Given the description of an element on the screen output the (x, y) to click on. 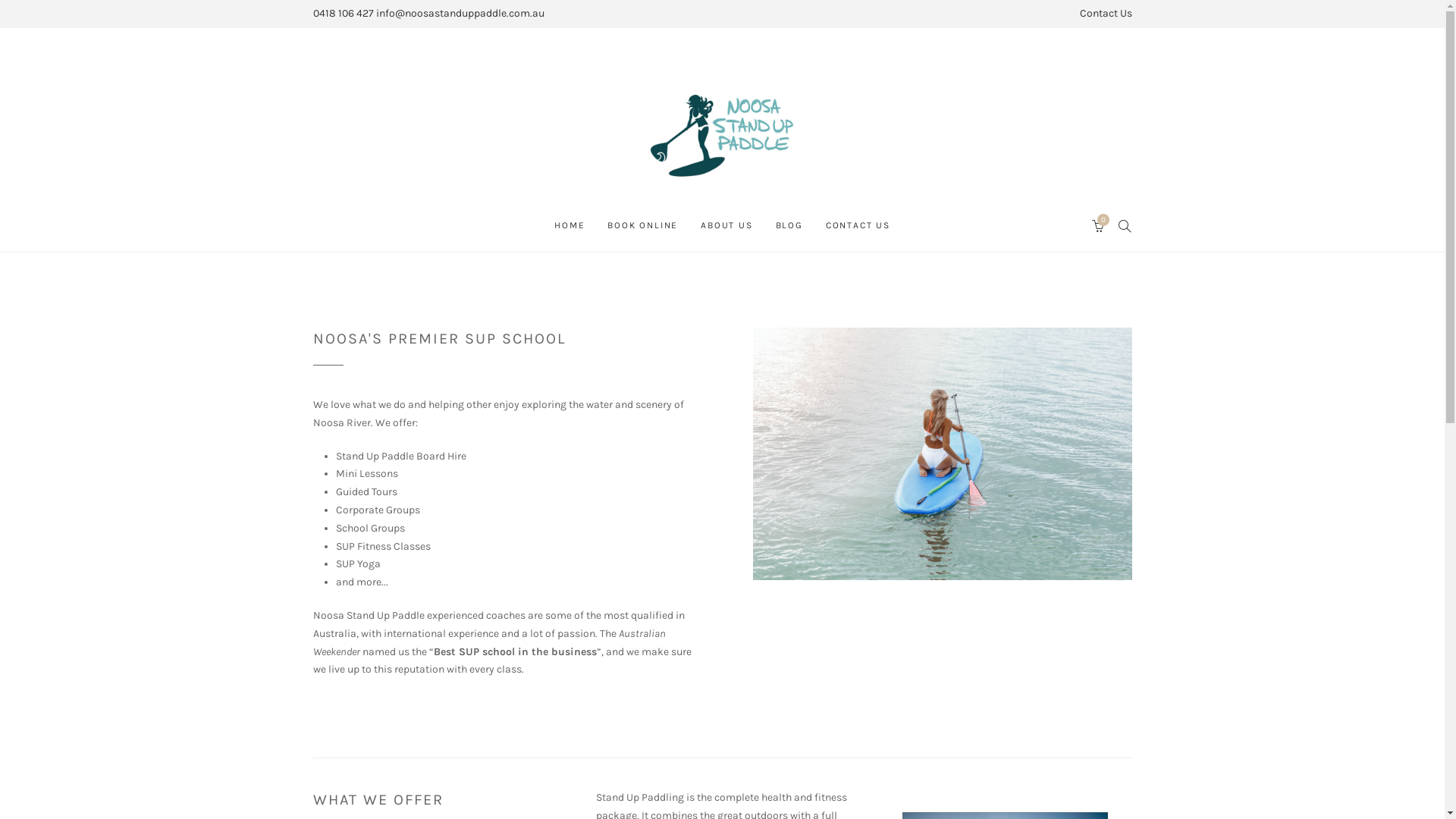
CONTACT US Element type: text (857, 224)
Search Element type: text (79, 15)
Contact Us Element type: text (1105, 13)
HOME Element type: text (569, 224)
CART
0 Element type: text (1098, 224)
BOOK ONLINE Element type: text (642, 224)
BLOG Element type: text (789, 224)
SEARCH Element type: text (1124, 224)
ABOUT US Element type: text (726, 224)
0418 106 427 Element type: text (342, 12)
info@noosastanduppaddle.com.au Element type: text (460, 12)
